Given the description of an element on the screen output the (x, y) to click on. 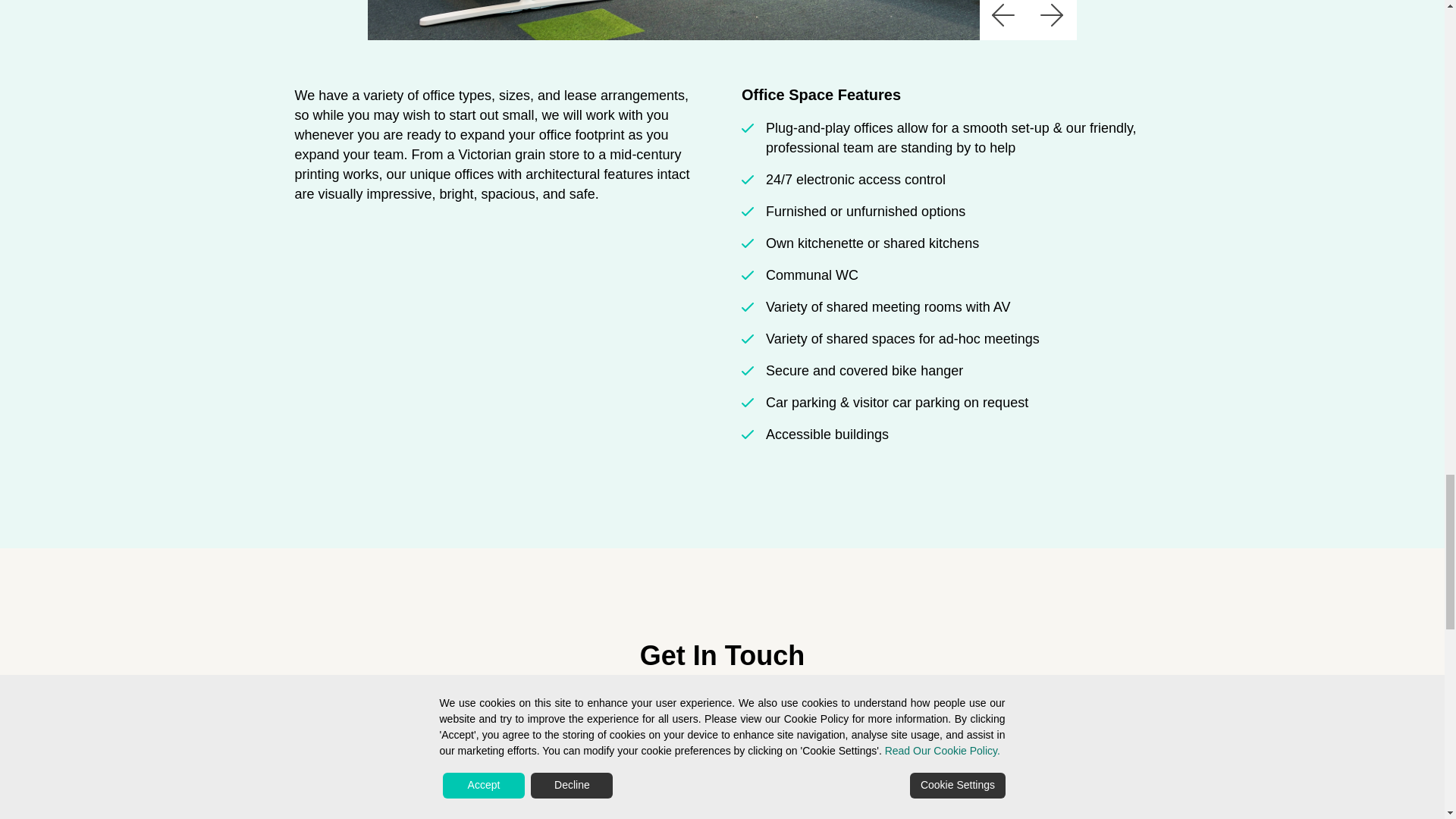
Contact Us (721, 770)
